Given the description of an element on the screen output the (x, y) to click on. 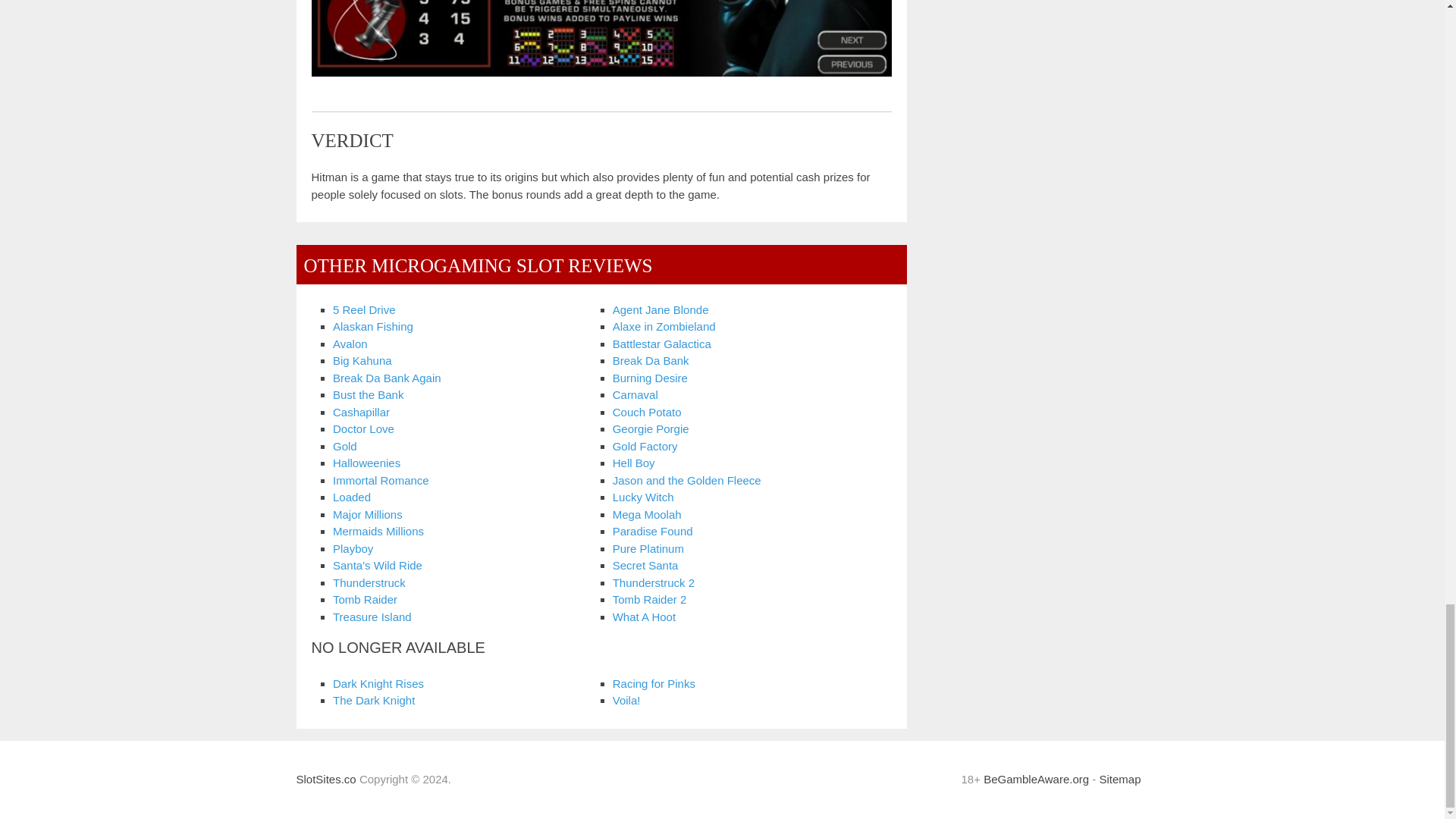
Doctor Love (363, 428)
Major Millions (368, 513)
Alaxe in Zombieland (664, 326)
Battlestar Galactica (661, 343)
Burning Desire (649, 377)
Immortal Romance (381, 480)
Pure Platinum (648, 548)
Break Da Bank Again (387, 377)
Halloweenies (366, 462)
Gold (344, 445)
Break Da Bank (650, 359)
Alaskan Fishing (373, 326)
Paradise Found (652, 530)
Cashapillar (361, 411)
Gold Factory (645, 445)
